Given the description of an element on the screen output the (x, y) to click on. 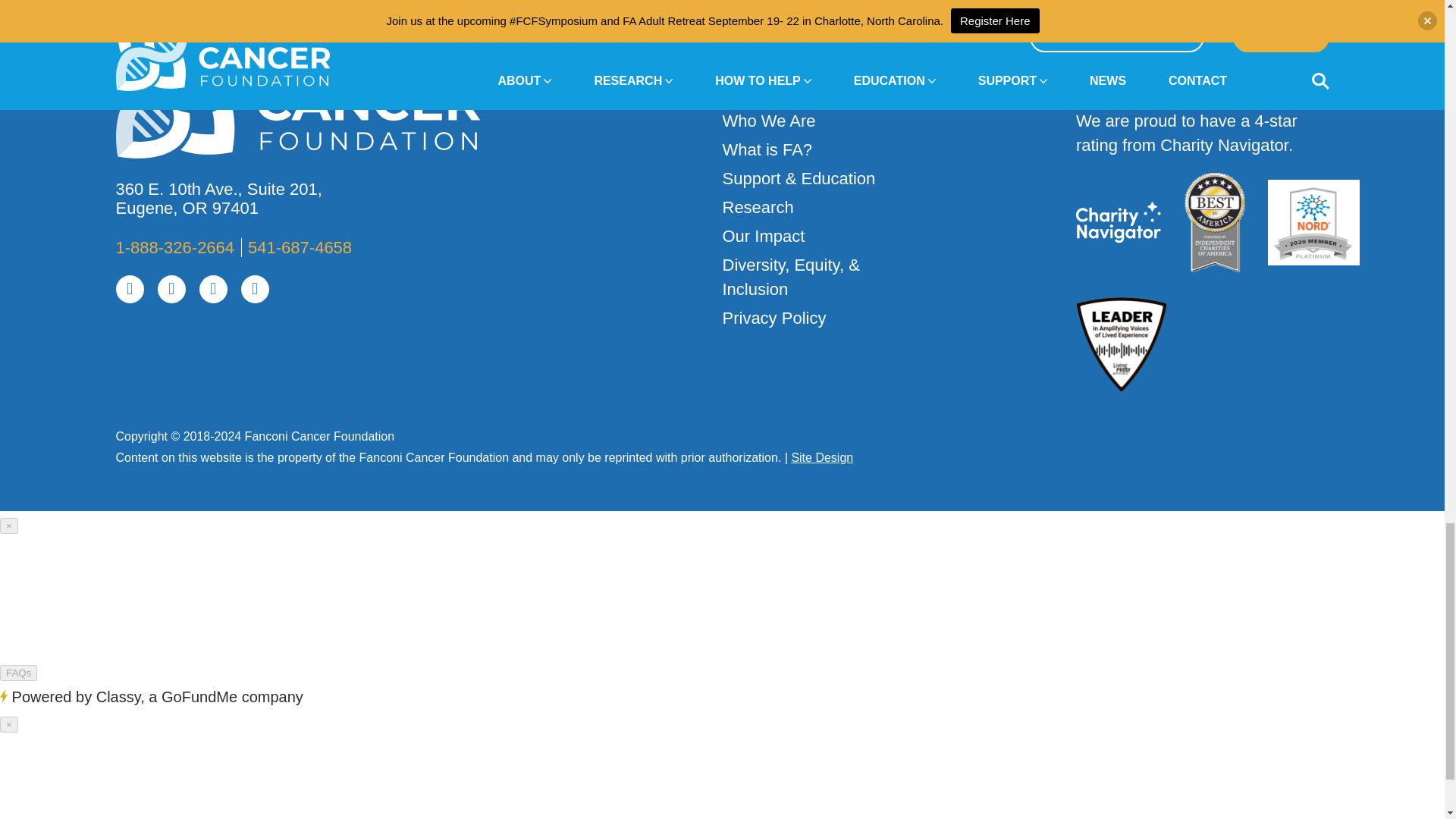
Fanconi Cancer Foundation (308, 97)
